Given the description of an element on the screen output the (x, y) to click on. 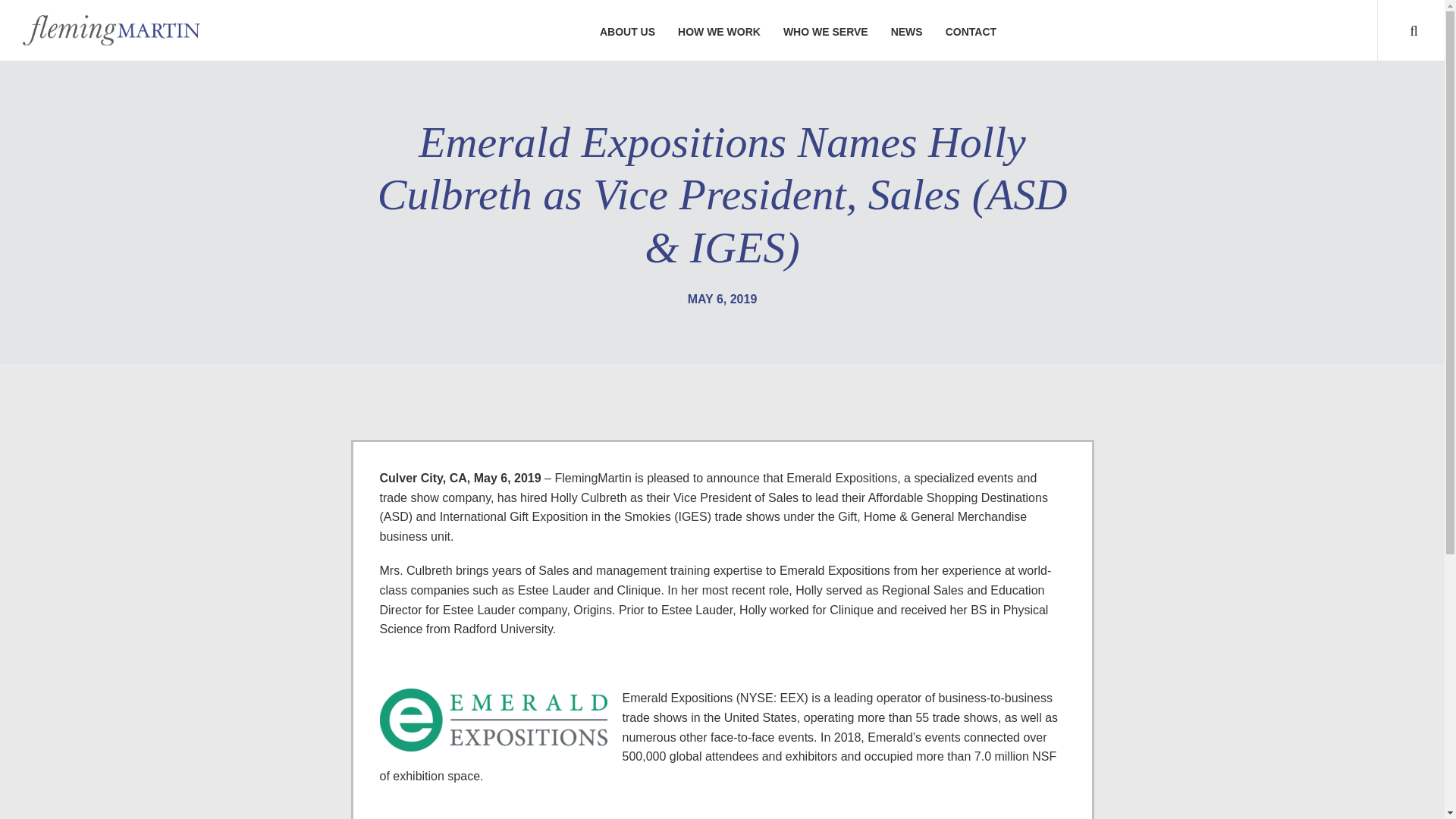
ABOUT US (627, 30)
Contact (970, 30)
HOW WE WORK (718, 30)
WHO WE SERVE (825, 30)
About Us (627, 30)
How We Work (718, 30)
CONTACT (970, 30)
News (906, 30)
NEWS (906, 30)
